Given the description of an element on the screen output the (x, y) to click on. 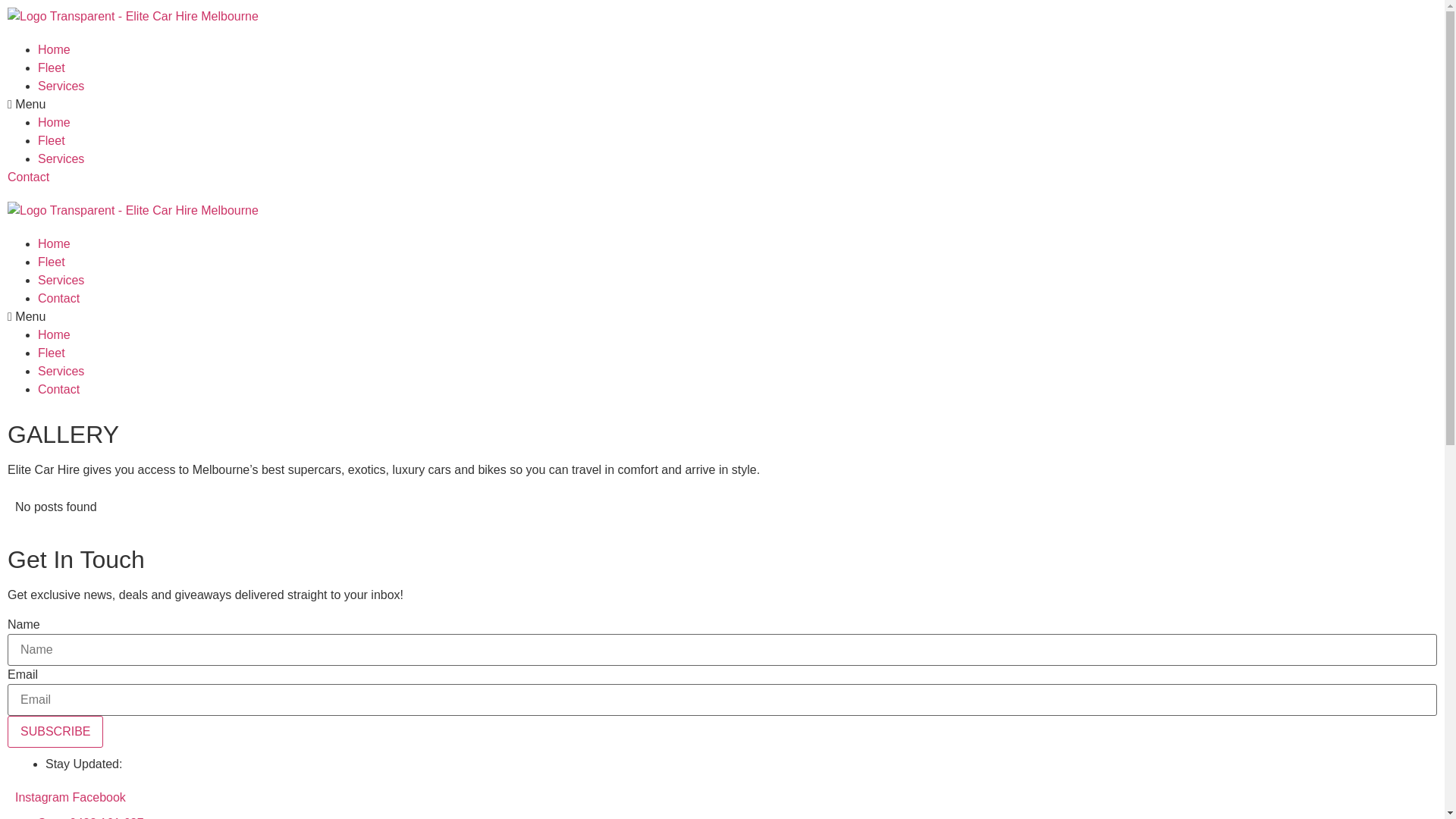
Home Element type: text (53, 334)
Services Element type: text (60, 370)
Contact Element type: text (58, 297)
Contact Element type: text (58, 388)
Home Element type: text (53, 122)
Facebook Element type: text (98, 796)
Fleet Element type: text (51, 352)
Instagram Element type: text (43, 796)
Fleet Element type: text (51, 261)
Fleet Element type: text (51, 67)
Services Element type: text (60, 158)
Contact Element type: text (28, 176)
Home Element type: text (53, 243)
Fleet Element type: text (51, 140)
Home Element type: text (53, 49)
SUBSCRIBE Element type: text (55, 731)
Services Element type: text (60, 85)
Services Element type: text (60, 279)
